Given the description of an element on the screen output the (x, y) to click on. 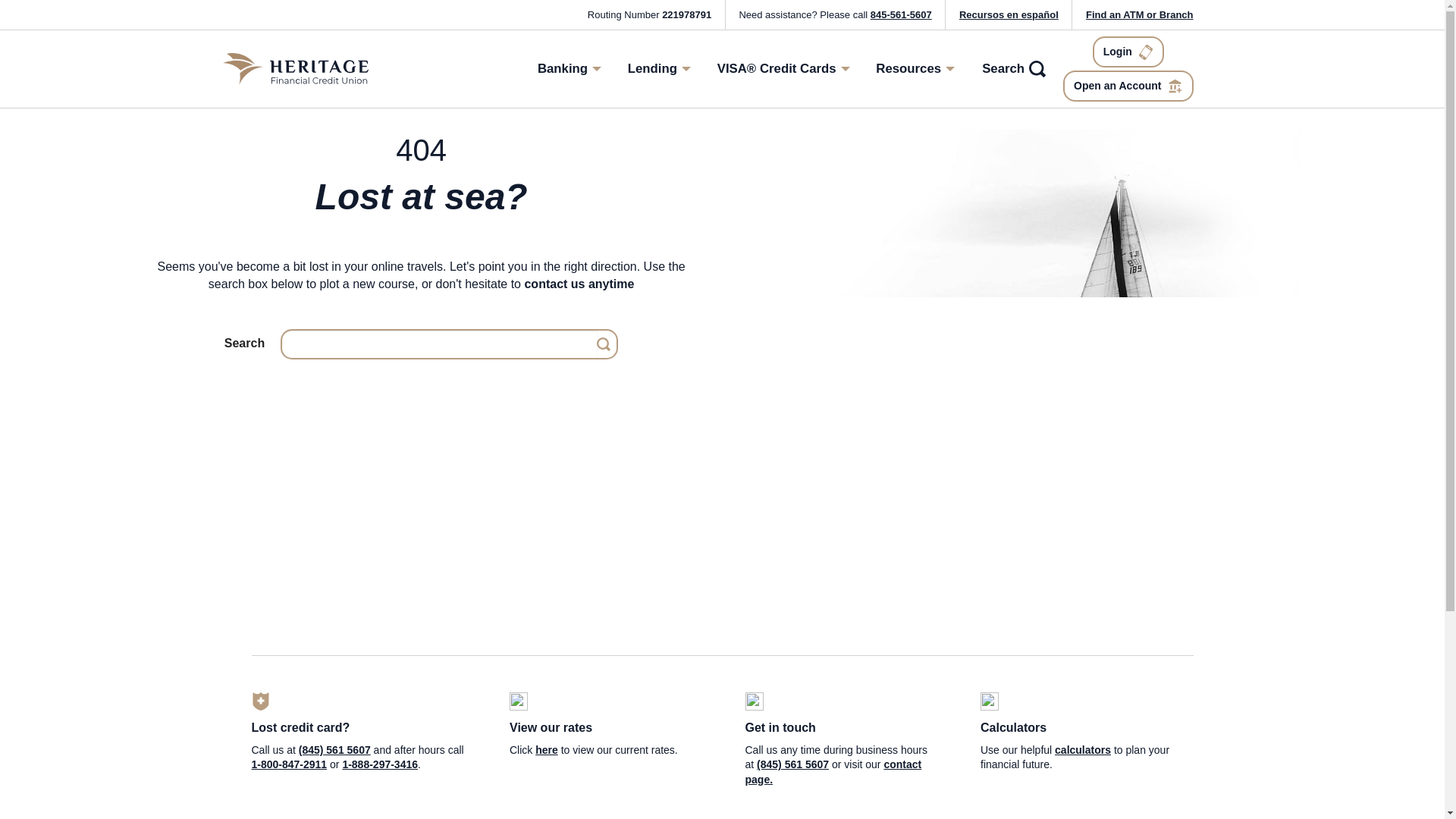
Visit our contact page (832, 771)
Need assistance? Please call 845615607 (834, 14)
Heritage Financial Credit Union (295, 67)
Search for: (438, 344)
